Given the description of an element on the screen output the (x, y) to click on. 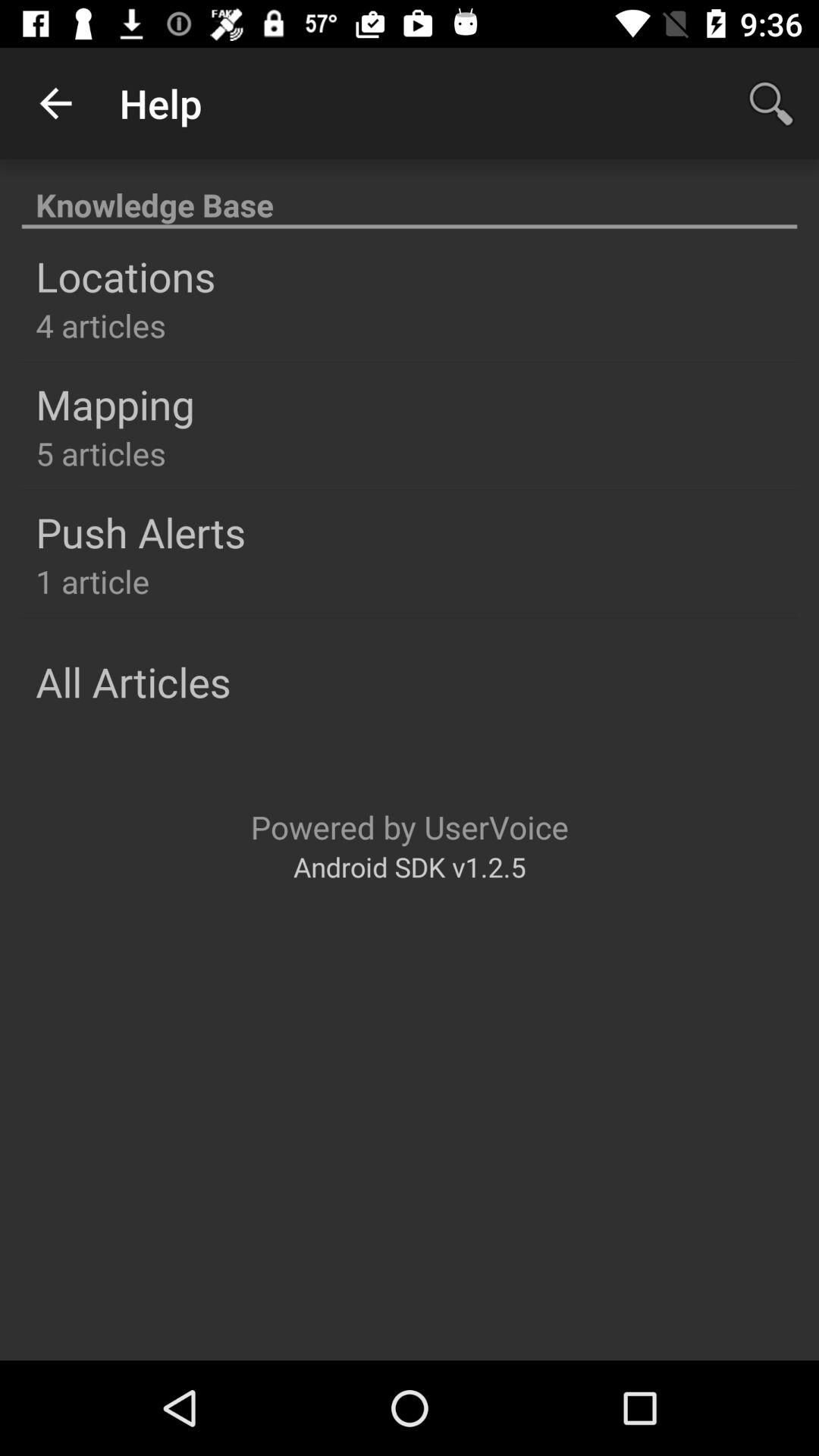
turn on item below push alerts item (92, 580)
